Given the description of an element on the screen output the (x, y) to click on. 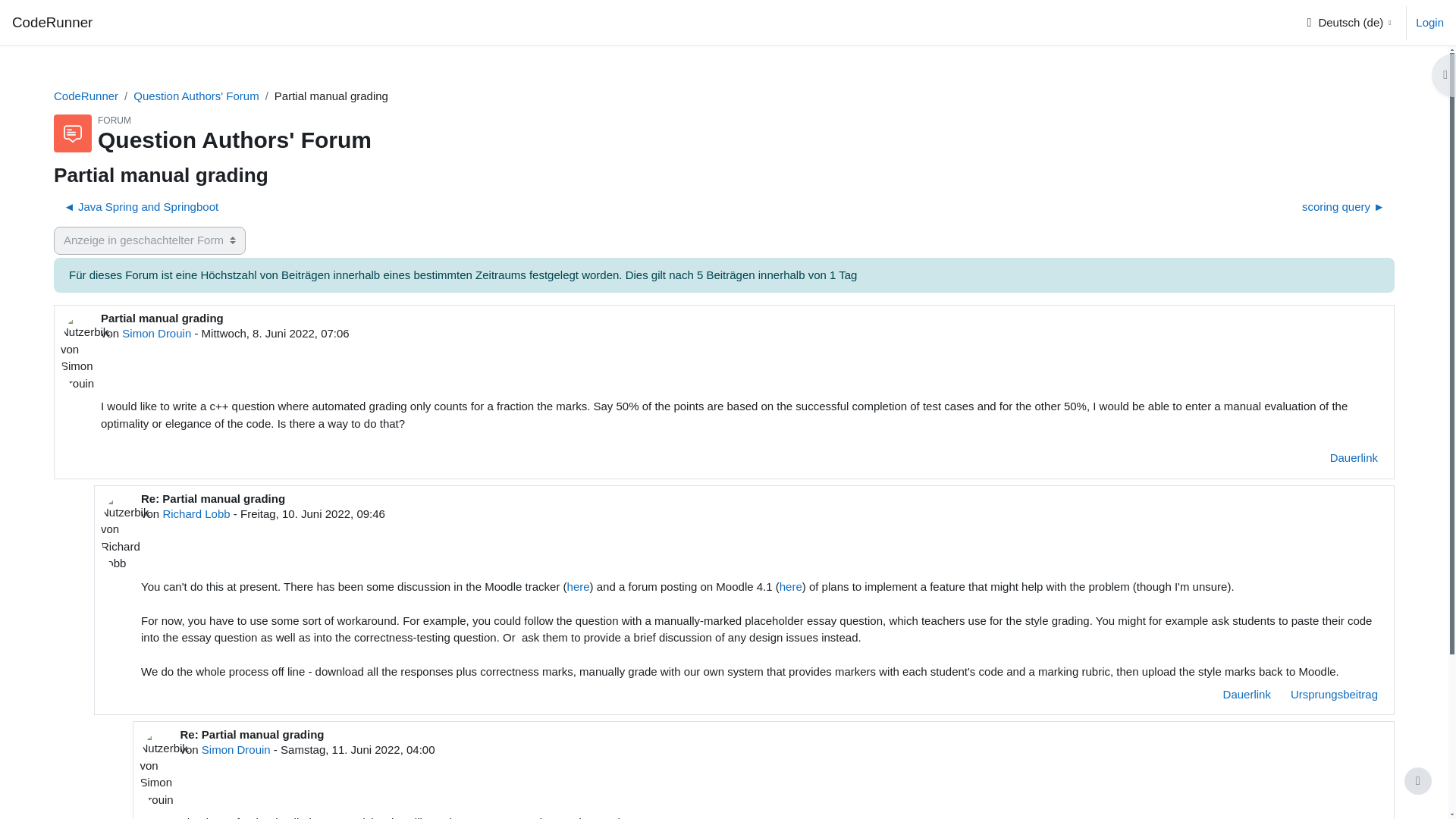
Dauerhafter Link zum Ursprungsbeitrag dieses Beitrags (1334, 694)
CodeRunner (52, 22)
CodeRunner (85, 95)
Question Authors' Forum (196, 95)
Ursprungsbeitrag (1334, 694)
Dauerlink (1246, 694)
here (578, 585)
Dauerlink (1353, 458)
Dauerhafter Link zu diesem Beitrag (1353, 458)
Forum (196, 95)
